Given the description of an element on the screen output the (x, y) to click on. 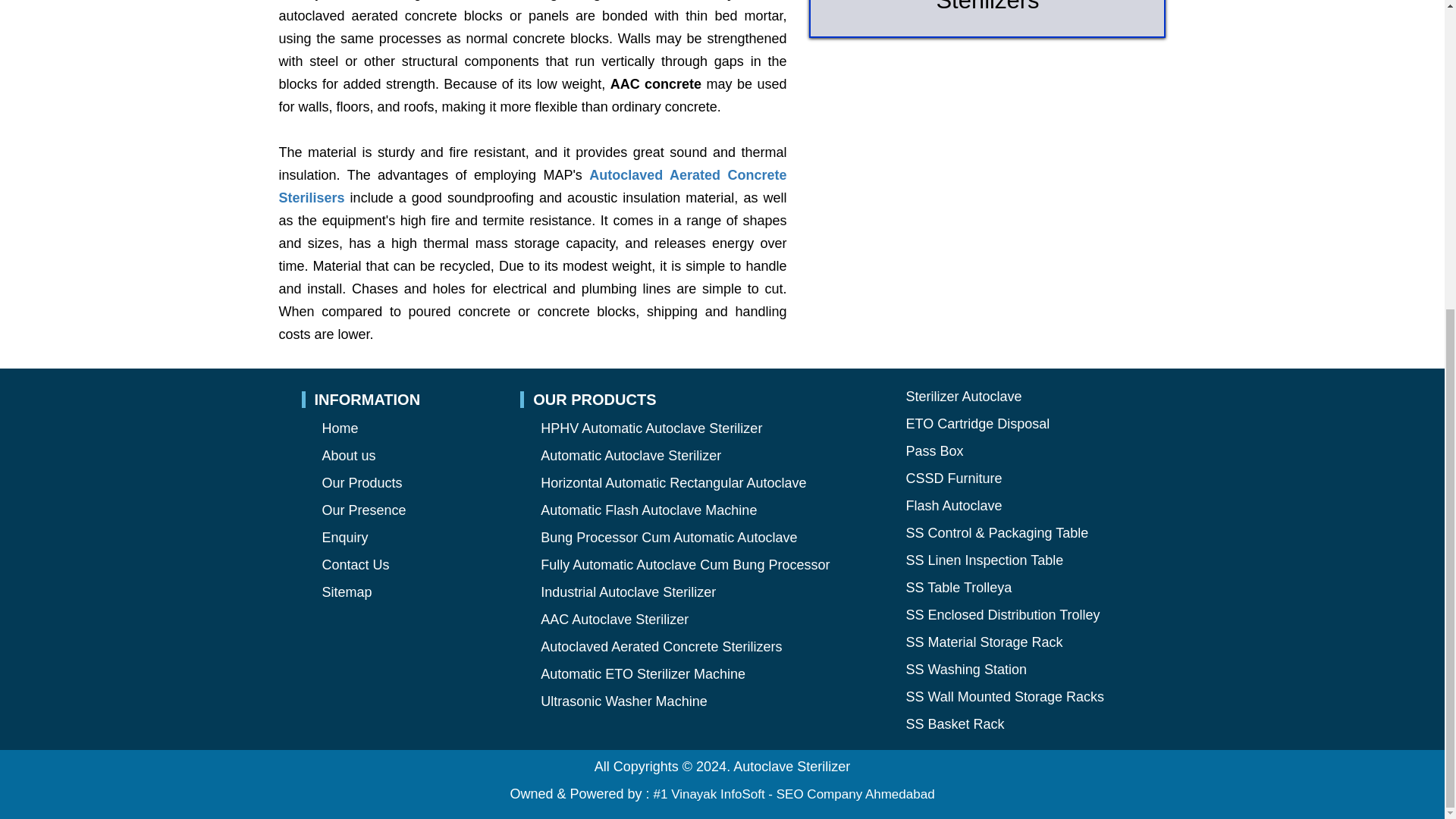
About us (348, 455)
Sitemap (346, 591)
Enquiry (344, 537)
Autoclaved Aerated Concrete Sterilisers (533, 186)
Contact Us (354, 564)
Home (339, 427)
Our Products (361, 482)
Our Presence (363, 509)
